Given the description of an element on the screen output the (x, y) to click on. 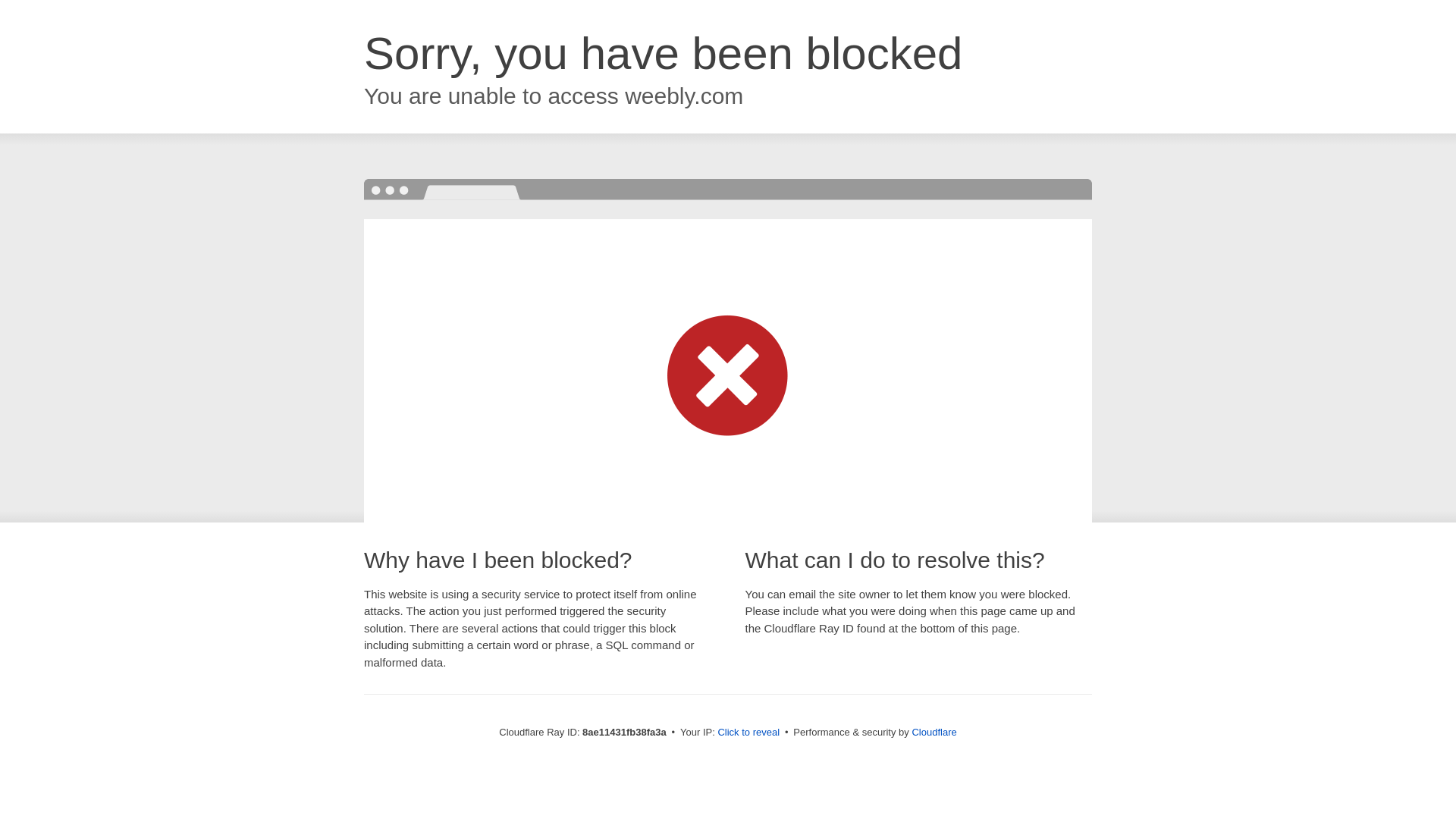
Click to reveal (747, 732)
Cloudflare (933, 731)
